Given the description of an element on the screen output the (x, y) to click on. 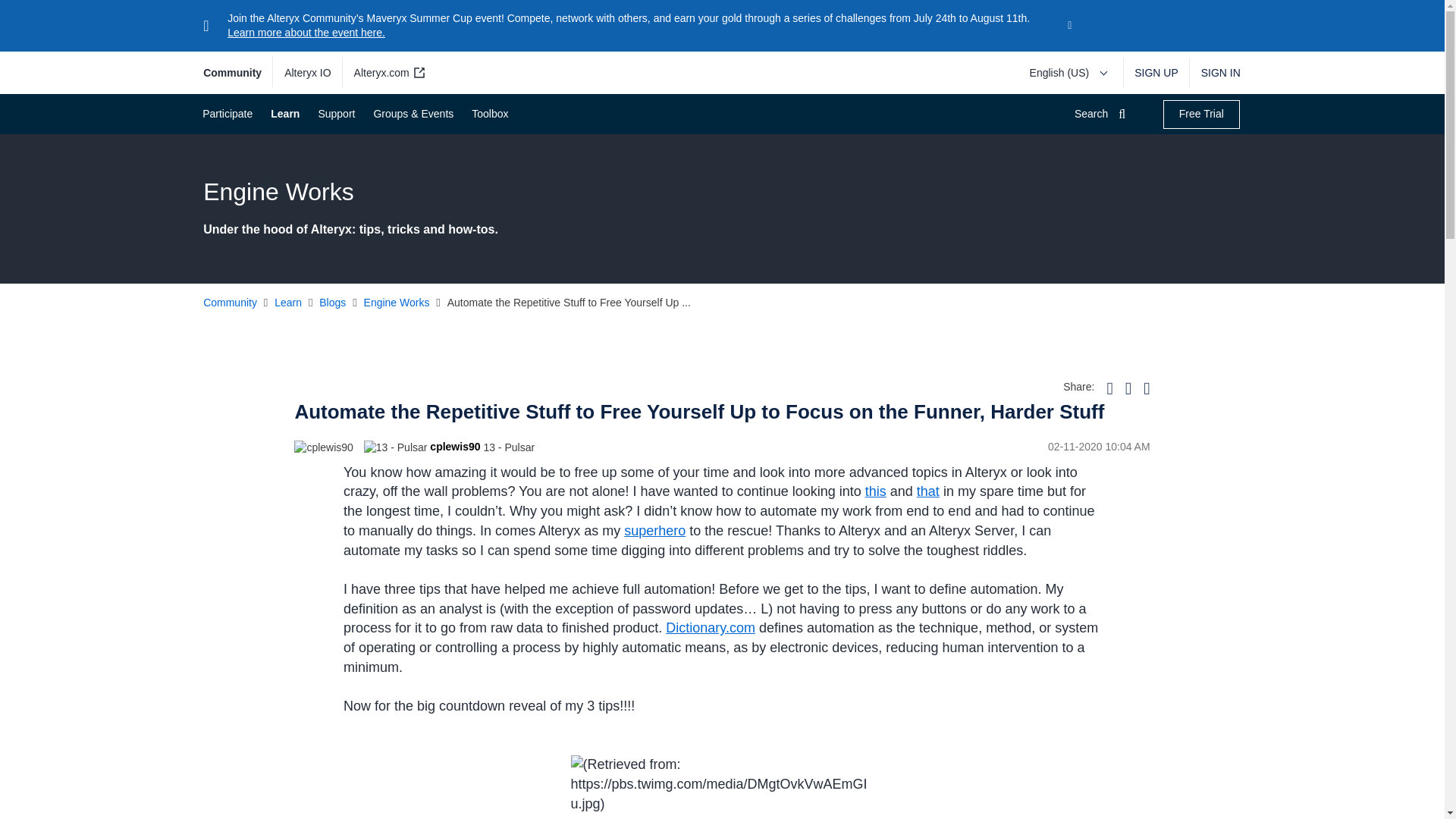
Learn more about the event here. (306, 32)
Posted on (936, 447)
SIGN UP (1155, 72)
Community (238, 72)
Participate (226, 114)
13 - Pulsar (396, 447)
Alteryx IO (307, 72)
cplewis90 (323, 447)
SIGN IN (1215, 72)
alteryx.com (386, 72)
Learn (283, 114)
